Given the description of an element on the screen output the (x, y) to click on. 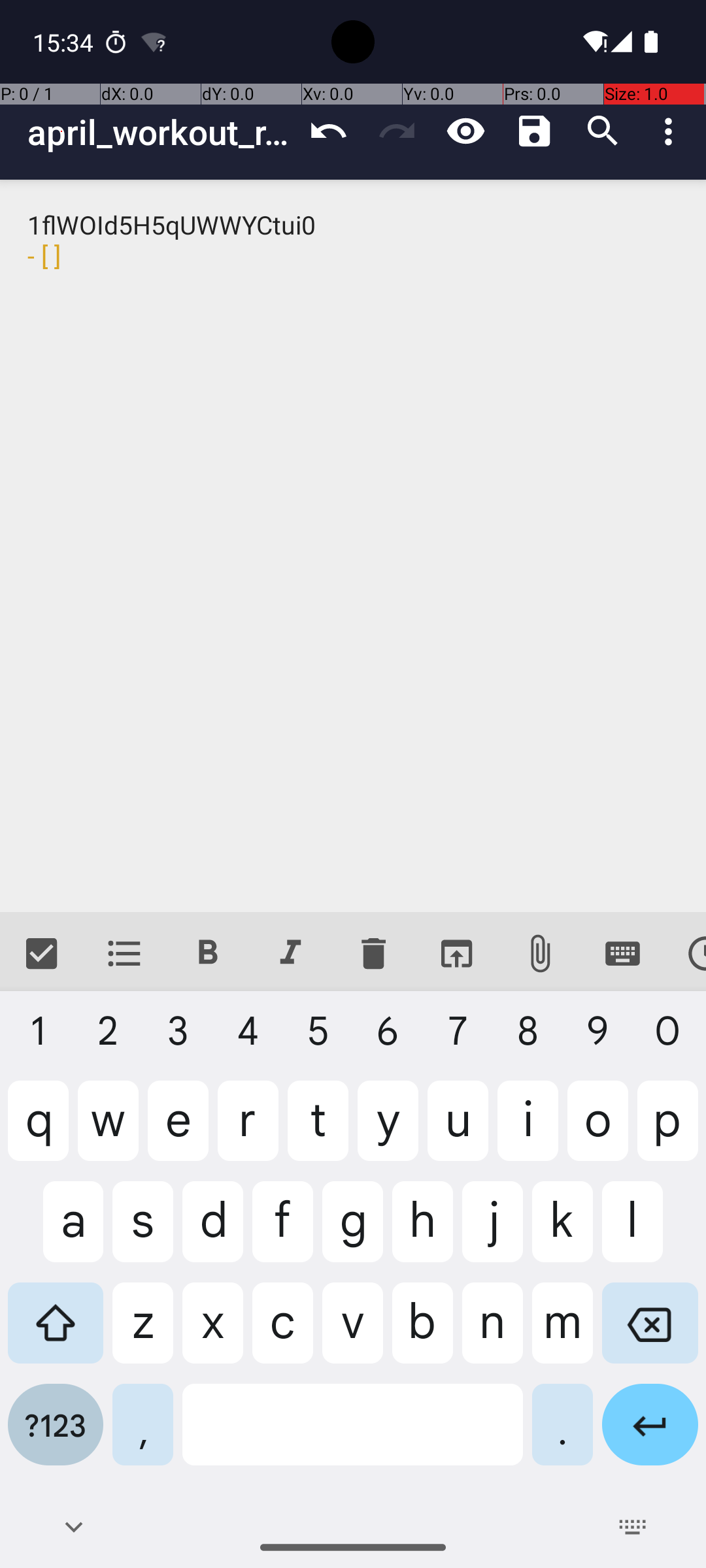
april_workout_routine_copy Element type: android.widget.TextView (160, 131)
1flWOId5H5qUWWYCtui0
- [ ]  Element type: android.widget.EditText (353, 545)
